Given the description of an element on the screen output the (x, y) to click on. 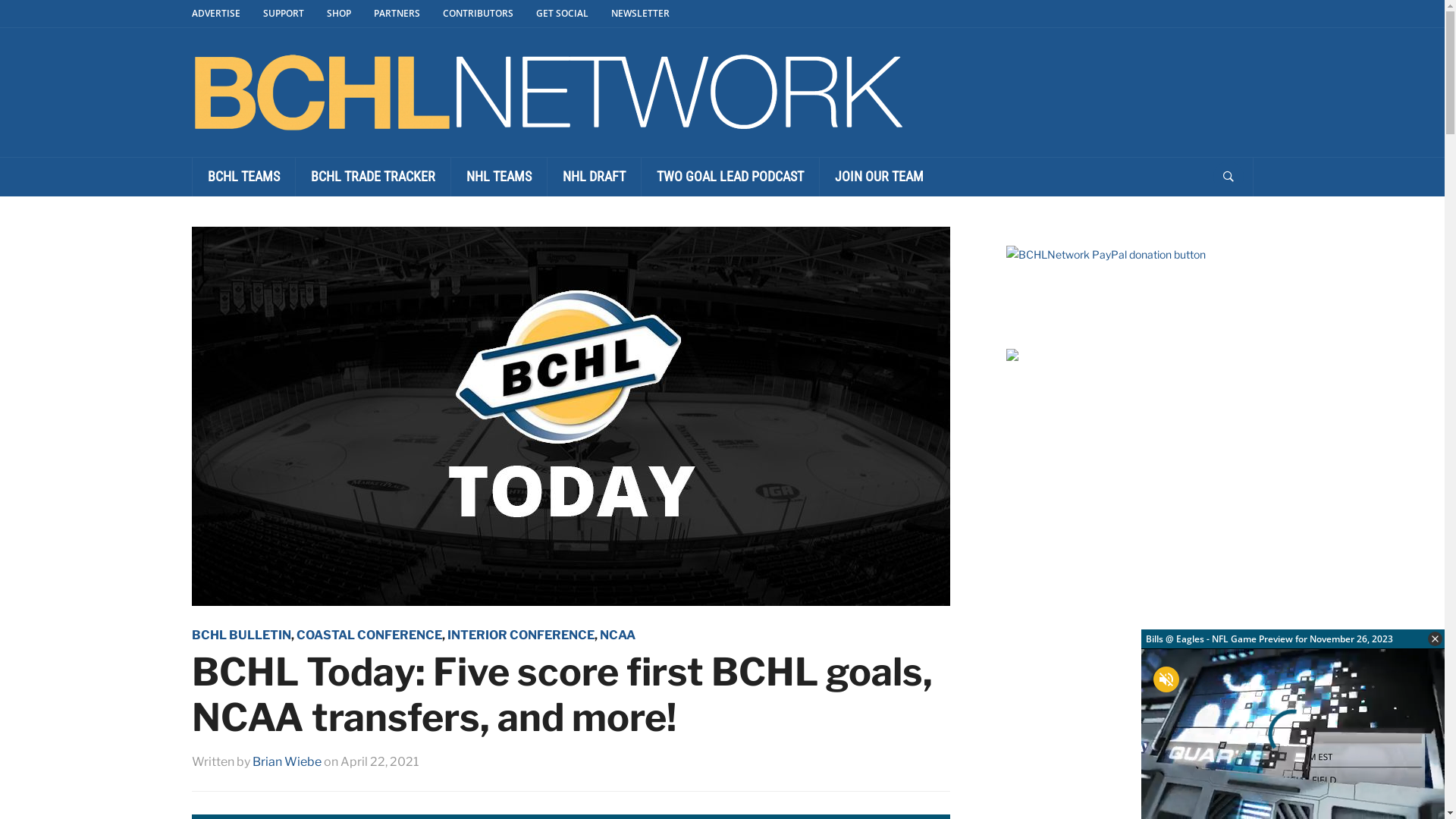
Brian Wiebe Element type: text (285, 761)
PayPal donation button Element type: hover (1104, 254)
Search Element type: text (1228, 176)
NHL TEAMS Element type: text (498, 176)
COASTAL CONFERENCE Element type: text (368, 634)
SHOP Element type: text (349, 13)
PARTNERS Element type: text (407, 13)
INTERIOR CONFERENCE Element type: text (520, 634)
BCHL TEAMS Element type: text (242, 176)
BCHL BULLETIN Element type: text (240, 634)
NHL DRAFT Element type: text (593, 176)
ADVERTISE Element type: text (226, 13)
SUPPORT Element type: text (294, 13)
GET SOCIAL Element type: text (572, 13)
TWO GOAL LEAD PODCAST Element type: text (729, 176)
NEWSLETTER Element type: text (651, 13)
BCHL TRADE TRACKER Element type: text (371, 176)
NCAA Element type: text (616, 634)
JOIN OUR TEAM Element type: text (878, 176)
CONTRIBUTORS Element type: text (489, 13)
